Given the description of an element on the screen output the (x, y) to click on. 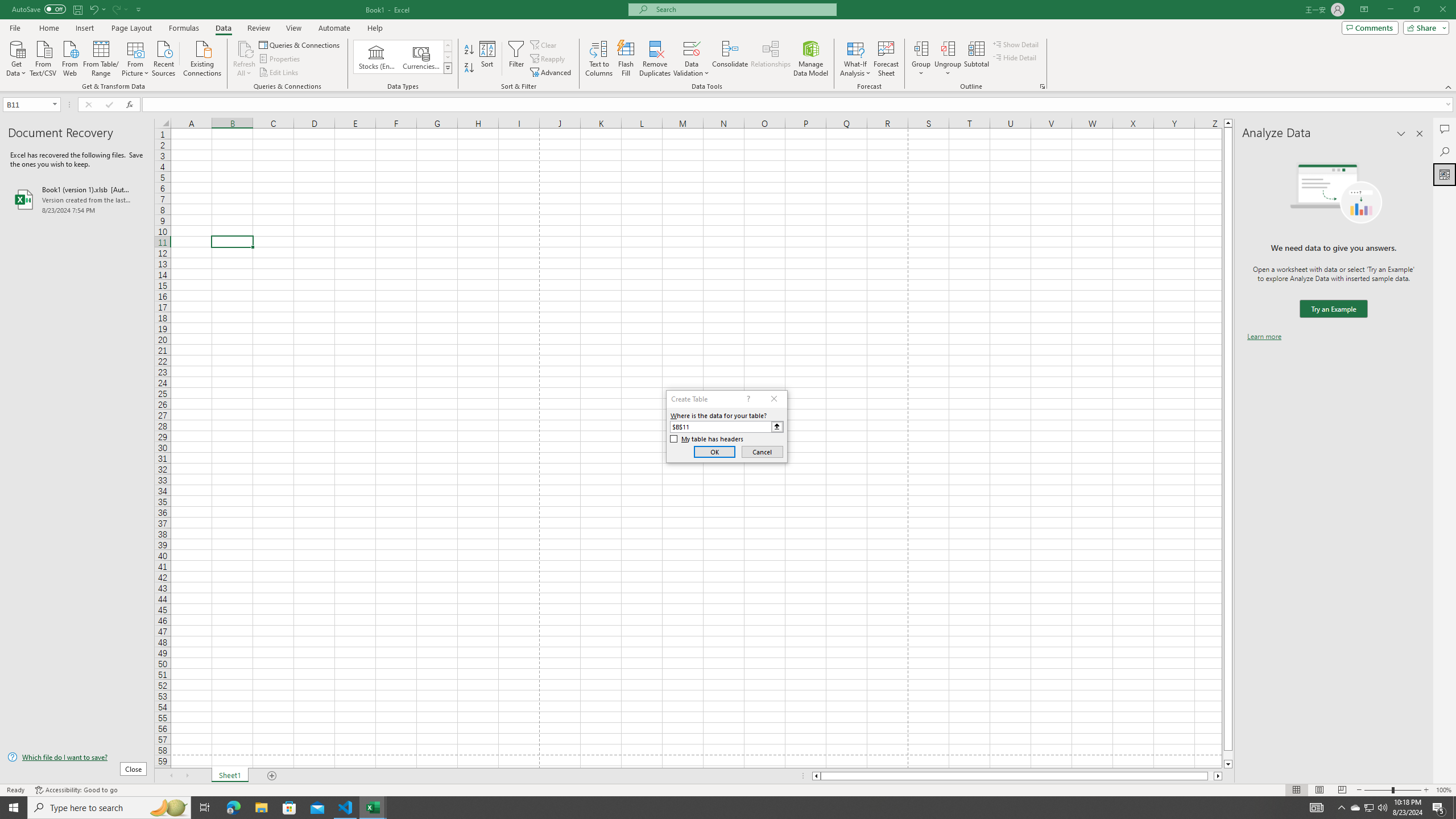
Sheet1 (229, 775)
Zoom (1392, 790)
Minimize (1390, 9)
Queries & Connections (300, 44)
Customize Quick Access Toolbar (139, 9)
Review (258, 28)
Scroll Left (171, 775)
Learn more (1264, 336)
Class: MsoCommandBar (728, 45)
Filter (515, 58)
Class: NetUIImage (447, 68)
View (293, 28)
Data (223, 28)
